Given the description of an element on the screen output the (x, y) to click on. 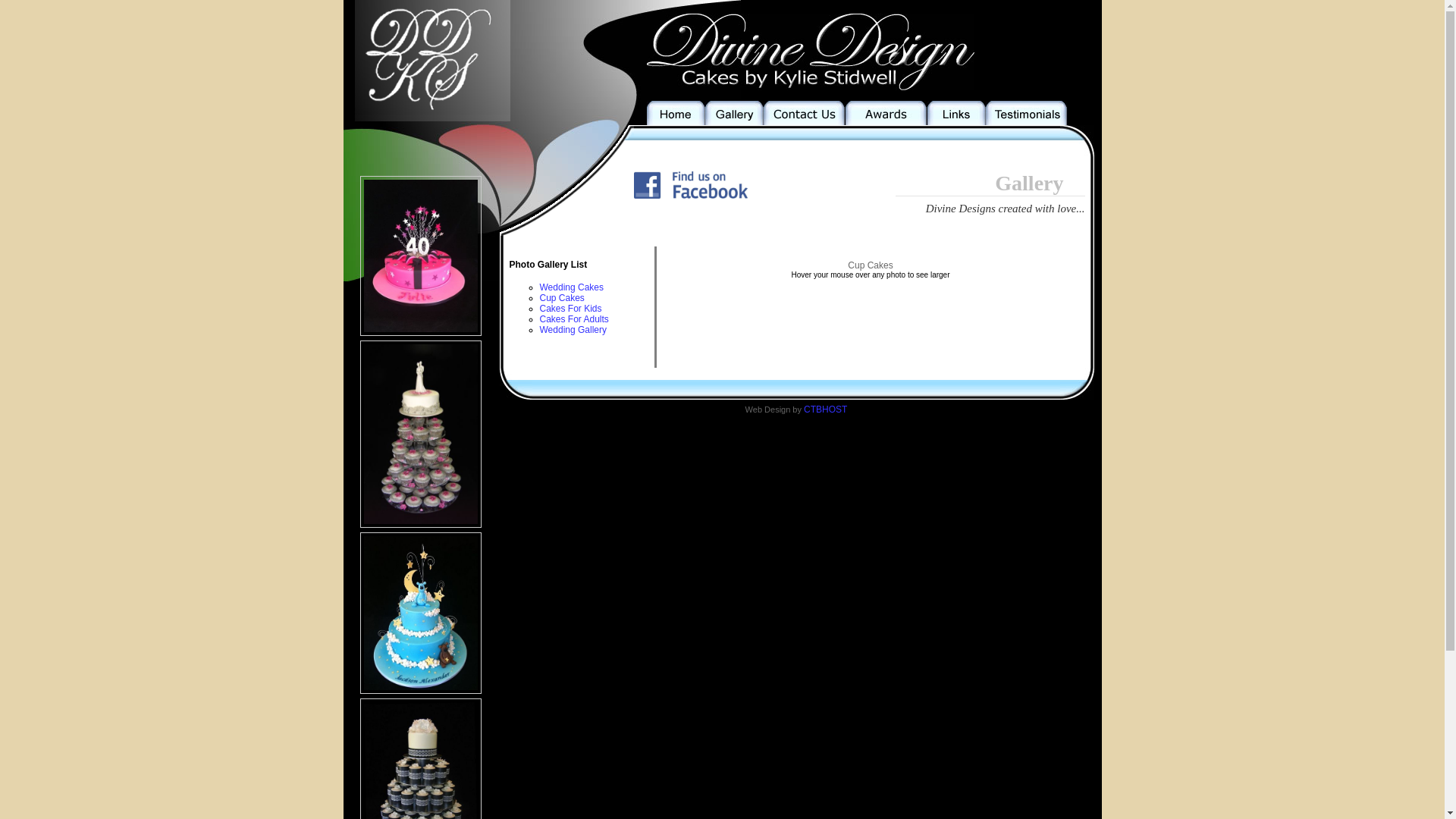
Wedding Cakes Element type: text (571, 287)
Cakes For Adults Element type: text (573, 318)
Cup Cakes Element type: text (561, 297)
Cakes For Kids Element type: text (570, 308)
Wedding Gallery Element type: text (573, 329)
CTBHOST Element type: text (825, 409)
